Given the description of an element on the screen output the (x, y) to click on. 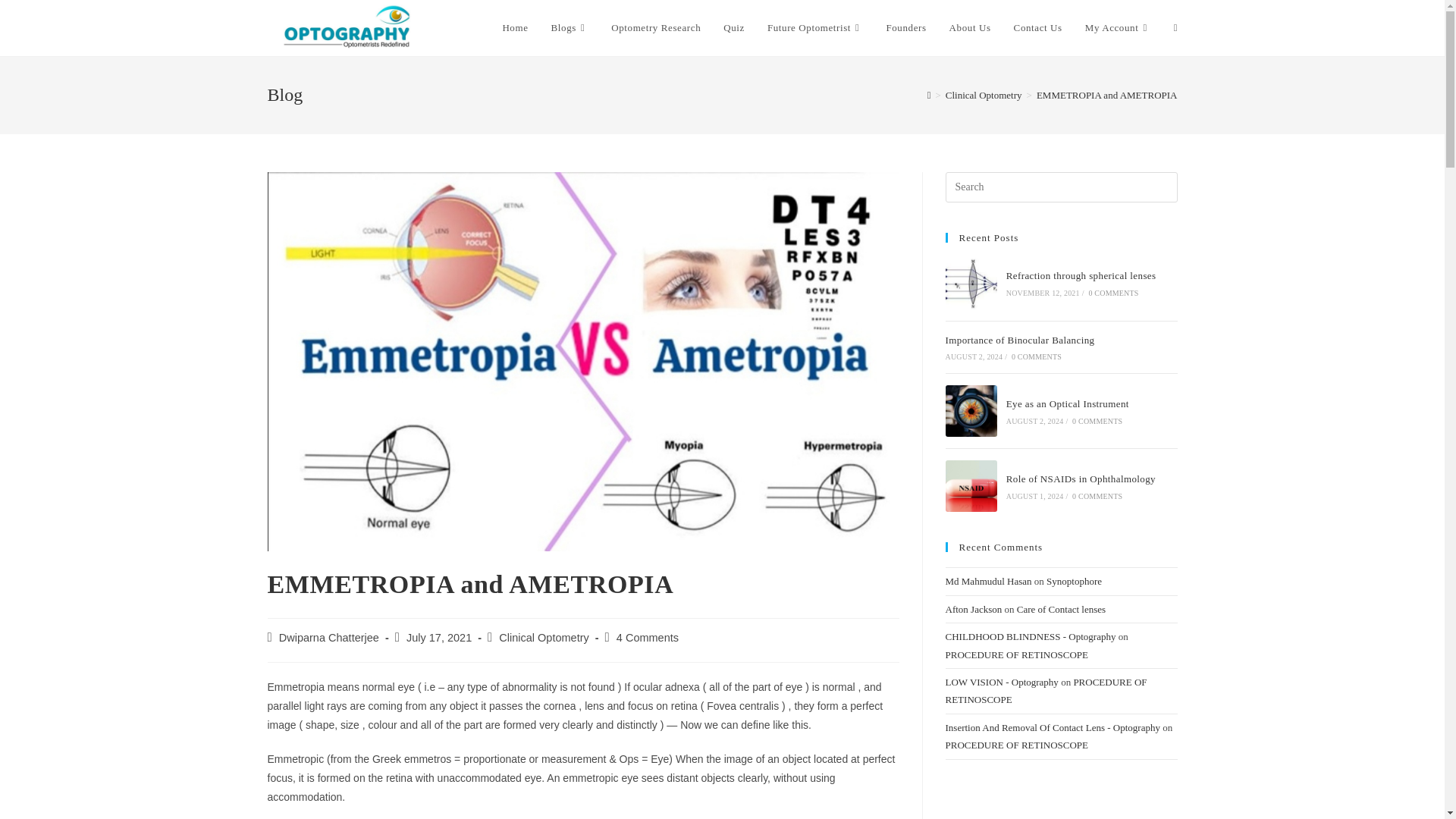
Dwiparna Chatterjee (328, 637)
Founders (906, 28)
Clinical Optometry (543, 637)
Eye as an Optical Instrument (969, 410)
4 Comments (646, 637)
Contact Us (1038, 28)
Refraction through spherical lenses (969, 283)
EMMETROPIA and AMETROPIA (1106, 94)
Posts by Dwiparna Chatterjee (328, 637)
Optometry Research (655, 28)
